Given the description of an element on the screen output the (x, y) to click on. 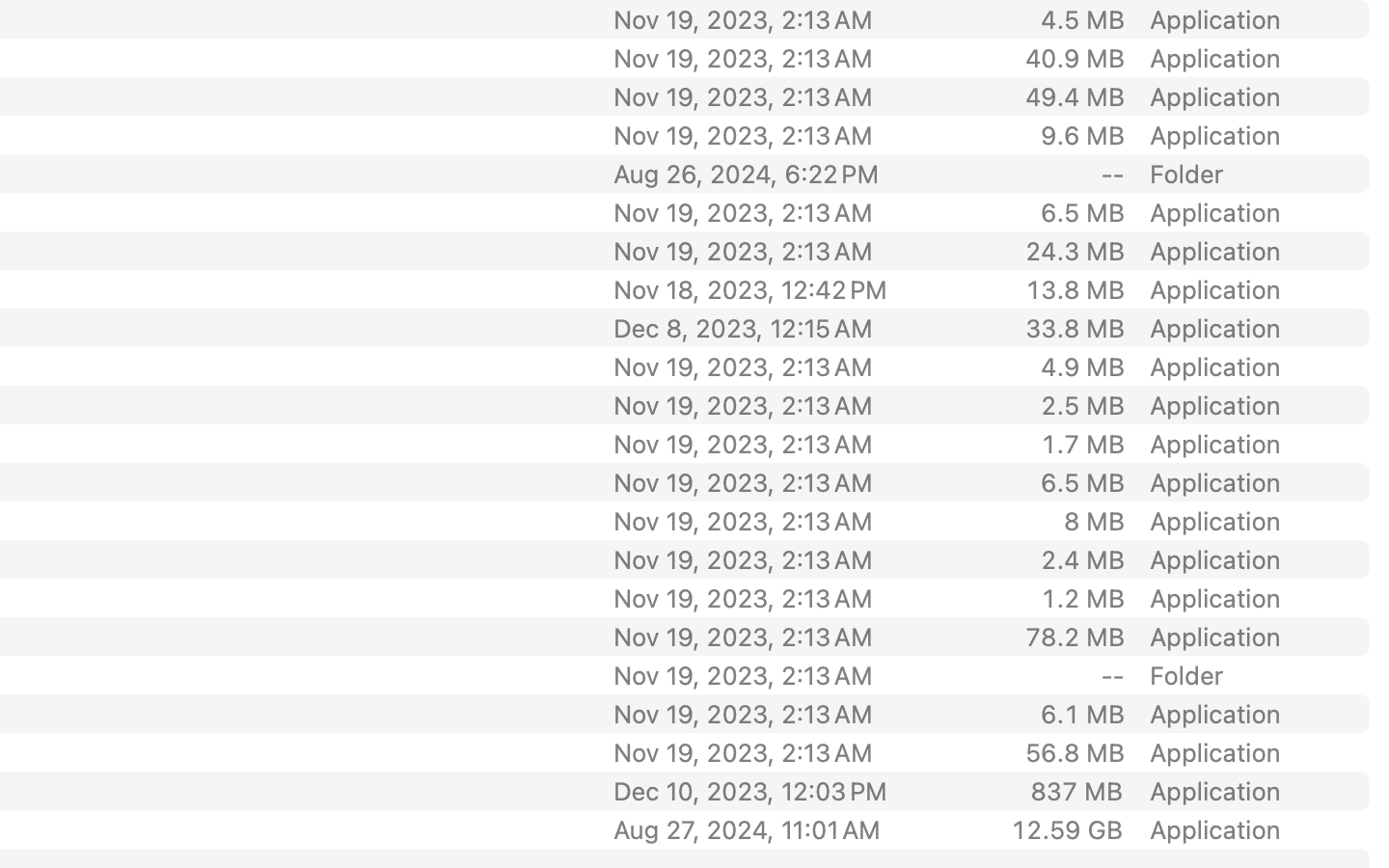
Nov 19, 2023, 2:13 AM Element type: AXStaticText (774, 134)
Nov 18, 2023, 12:42 PM Element type: AXStaticText (774, 288)
8 MB Element type: AXStaticText (1093, 520)
78.2 MB Element type: AXStaticText (1074, 636)
Folder Element type: AXStaticText (1186, 173)
